Given the description of an element on the screen output the (x, y) to click on. 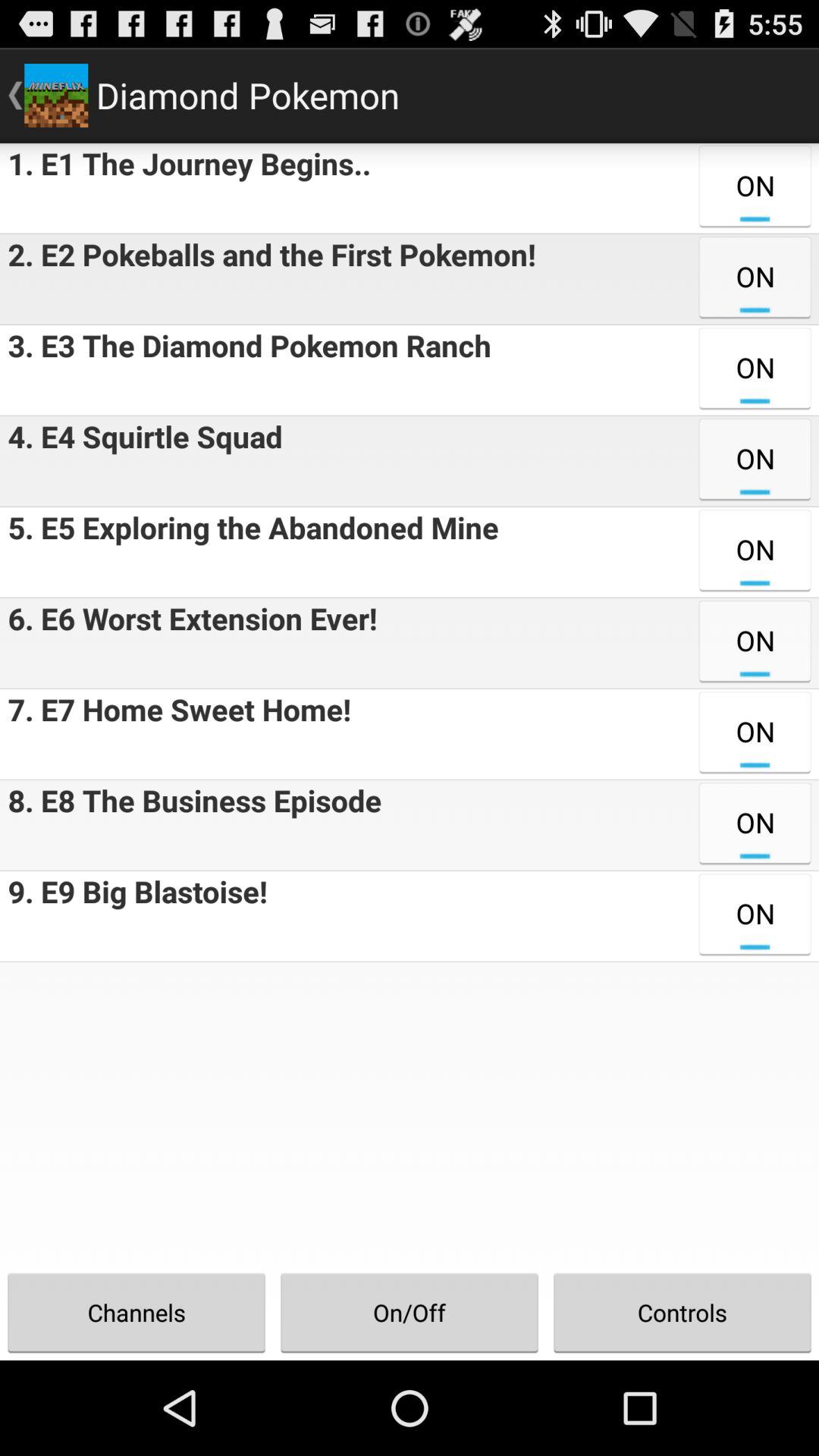
open channels at the bottom left corner (136, 1312)
